Given the description of an element on the screen output the (x, y) to click on. 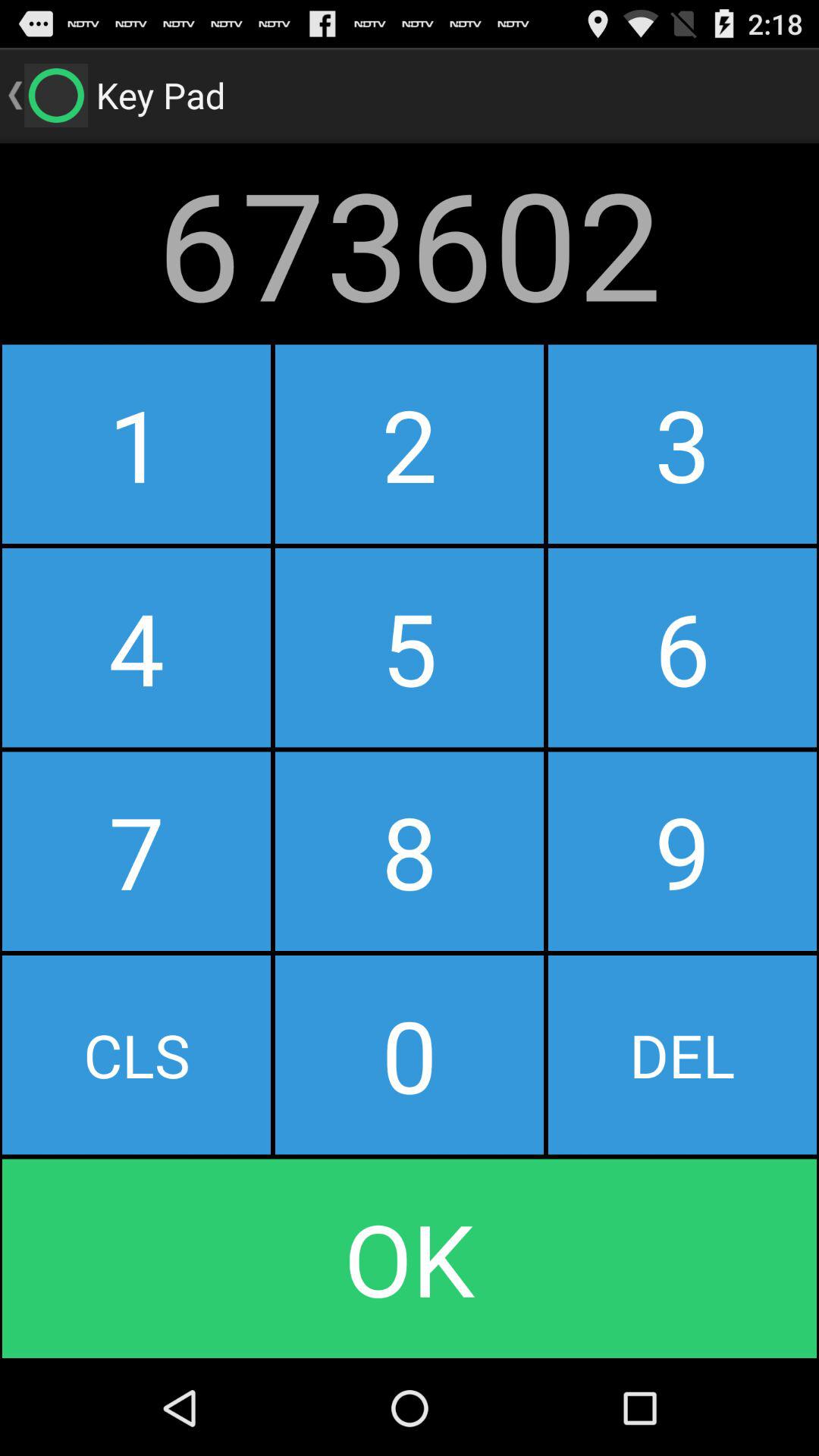
select icon below cls icon (409, 1258)
